Given the description of an element on the screen output the (x, y) to click on. 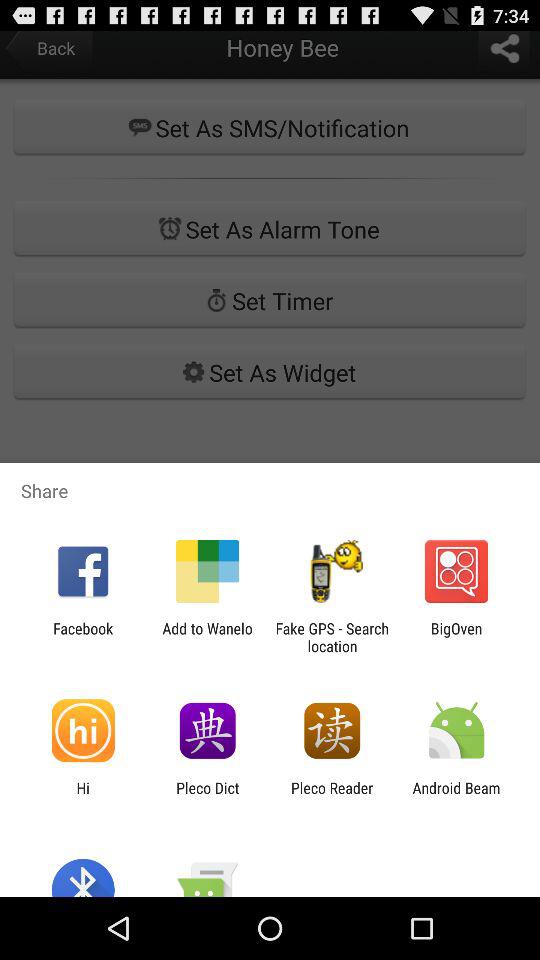
turn on the app next to fake gps search item (207, 637)
